Given the description of an element on the screen output the (x, y) to click on. 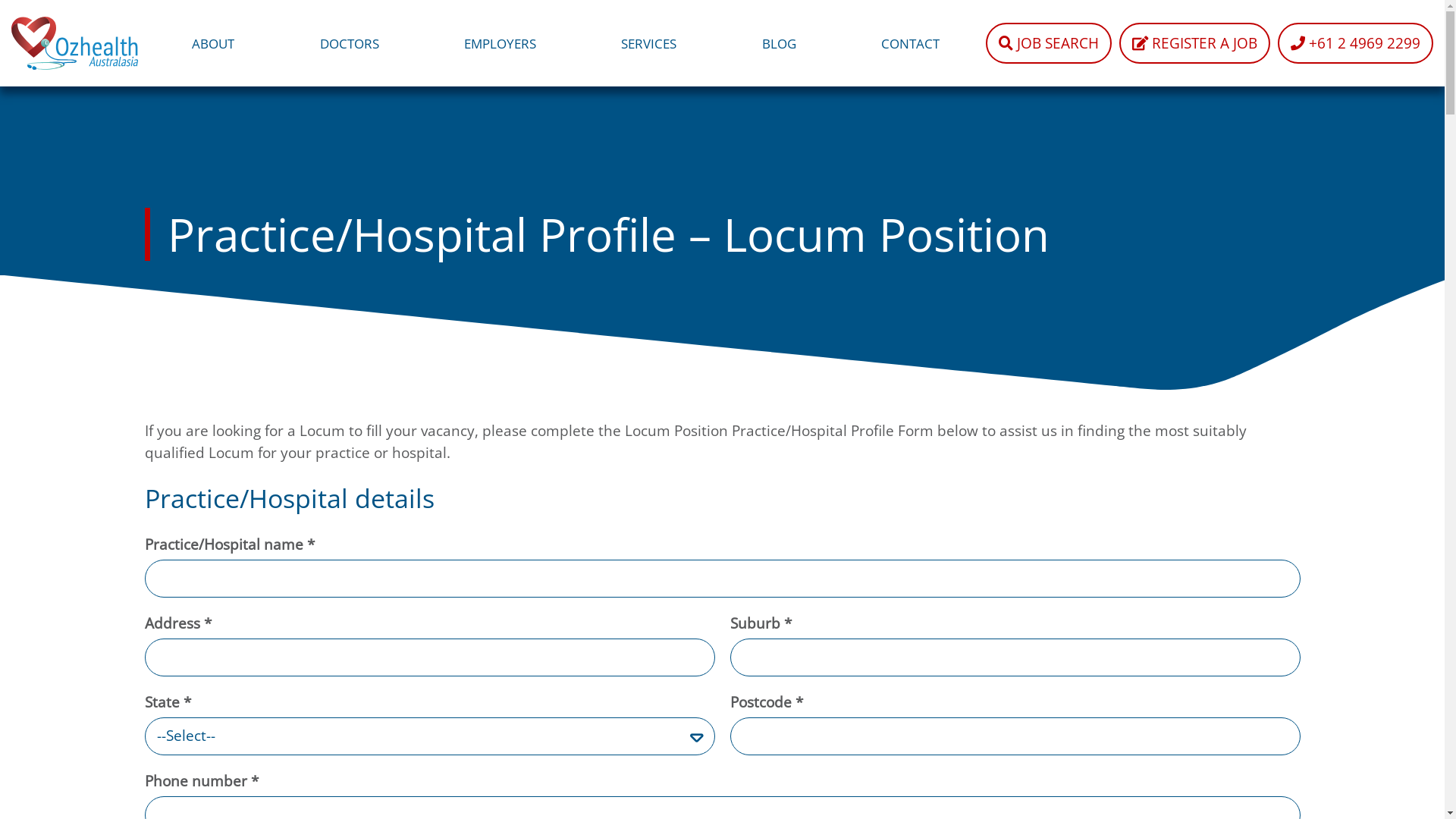
JOB SEARCH Element type: text (1048, 42)
DOCTORS Element type: text (349, 42)
SERVICES Element type: text (648, 42)
CONTACT Element type: text (910, 42)
BLOG Element type: text (779, 42)
EMPLOYERS Element type: text (500, 42)
+61 2 4969 2299 Element type: text (1355, 42)
REGISTER A JOB Element type: text (1194, 42)
ABOUT Element type: text (212, 42)
